Given the description of an element on the screen output the (x, y) to click on. 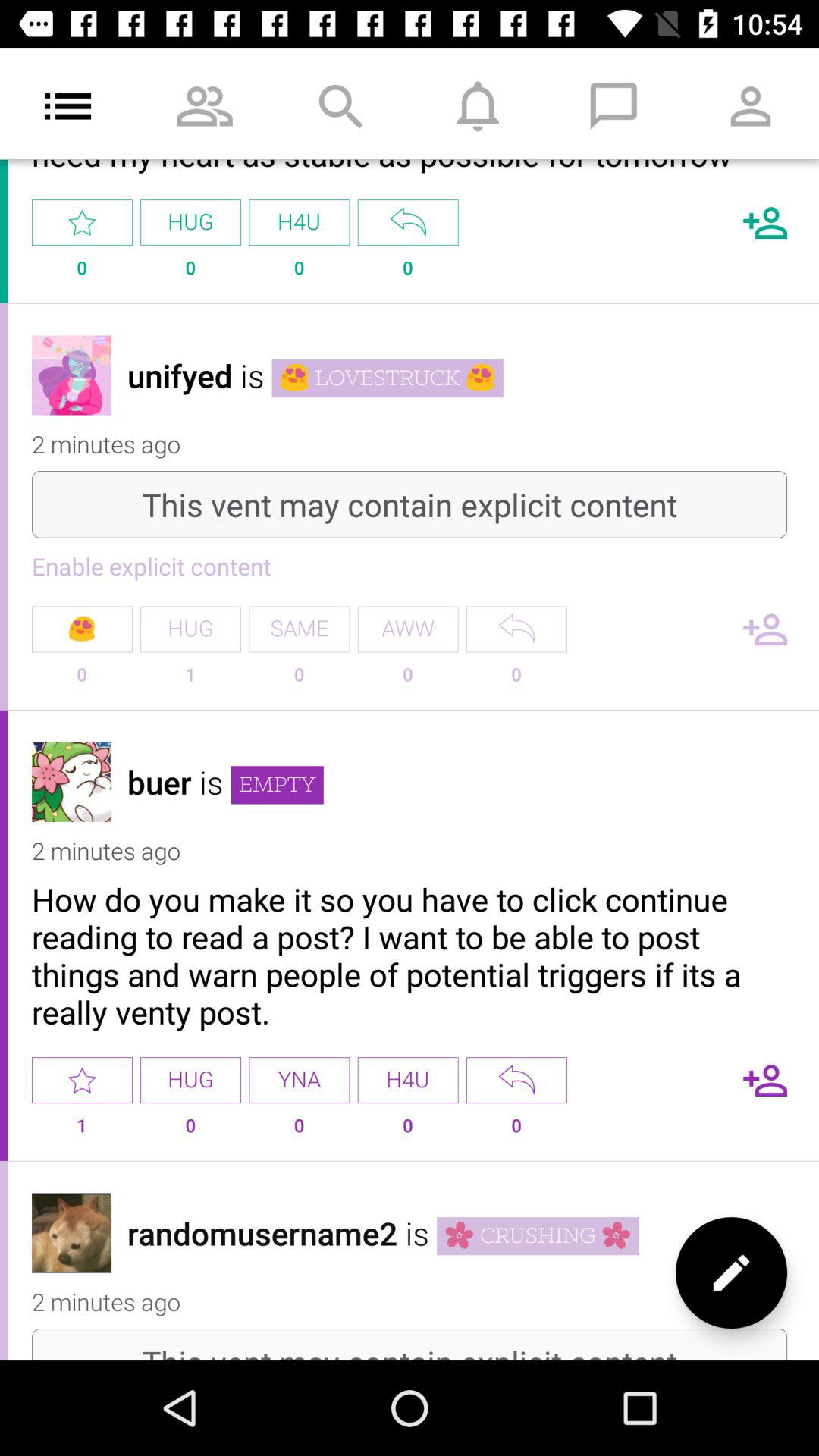
tap the icon above the 2 minutes ago item (179, 374)
